Given the description of an element on the screen output the (x, y) to click on. 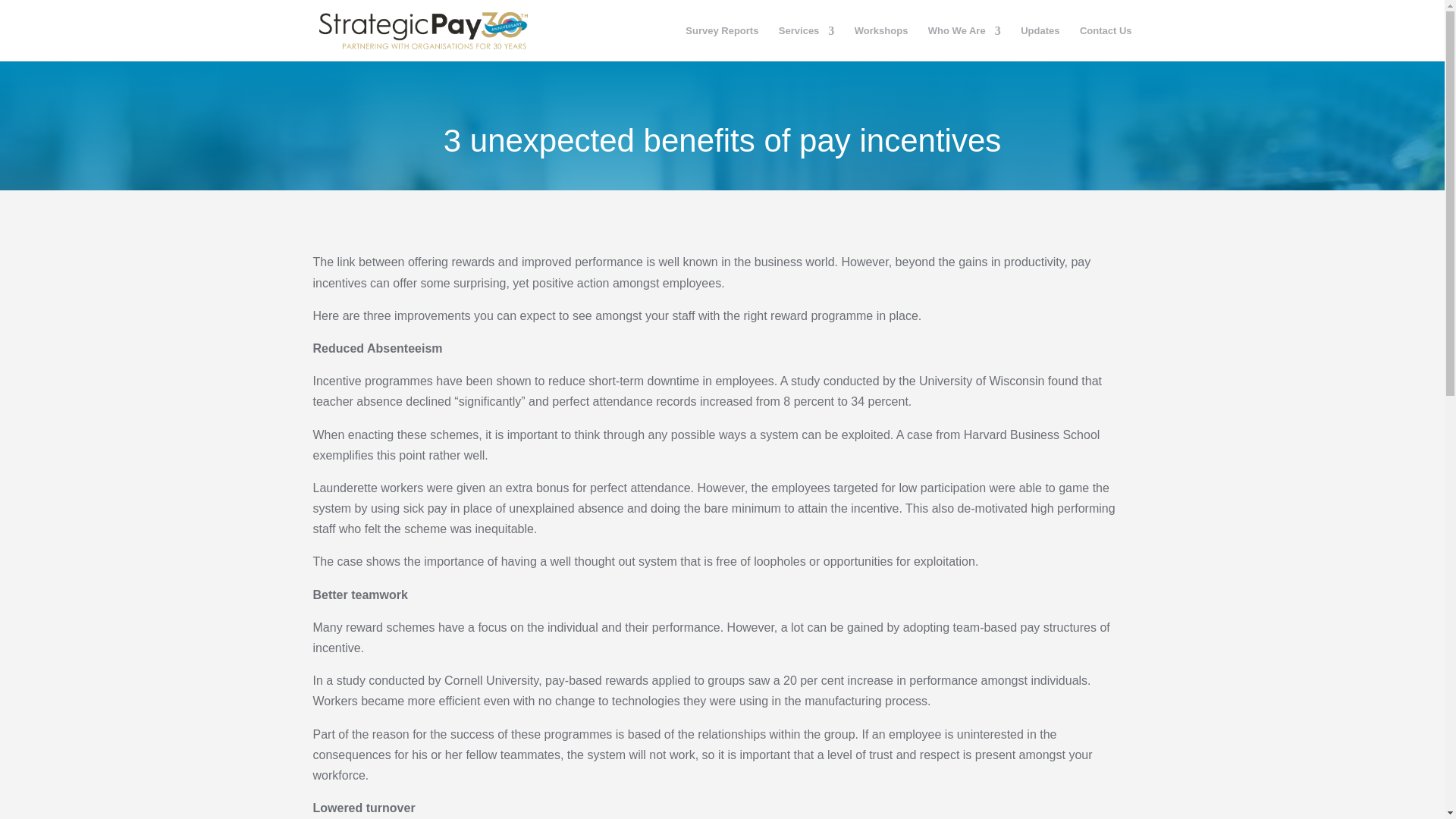
Contact Us (1106, 43)
Who We Are (964, 43)
Services (806, 43)
Survey Reports (721, 43)
Updates (1039, 43)
Workshops (881, 43)
